Given the description of an element on the screen output the (x, y) to click on. 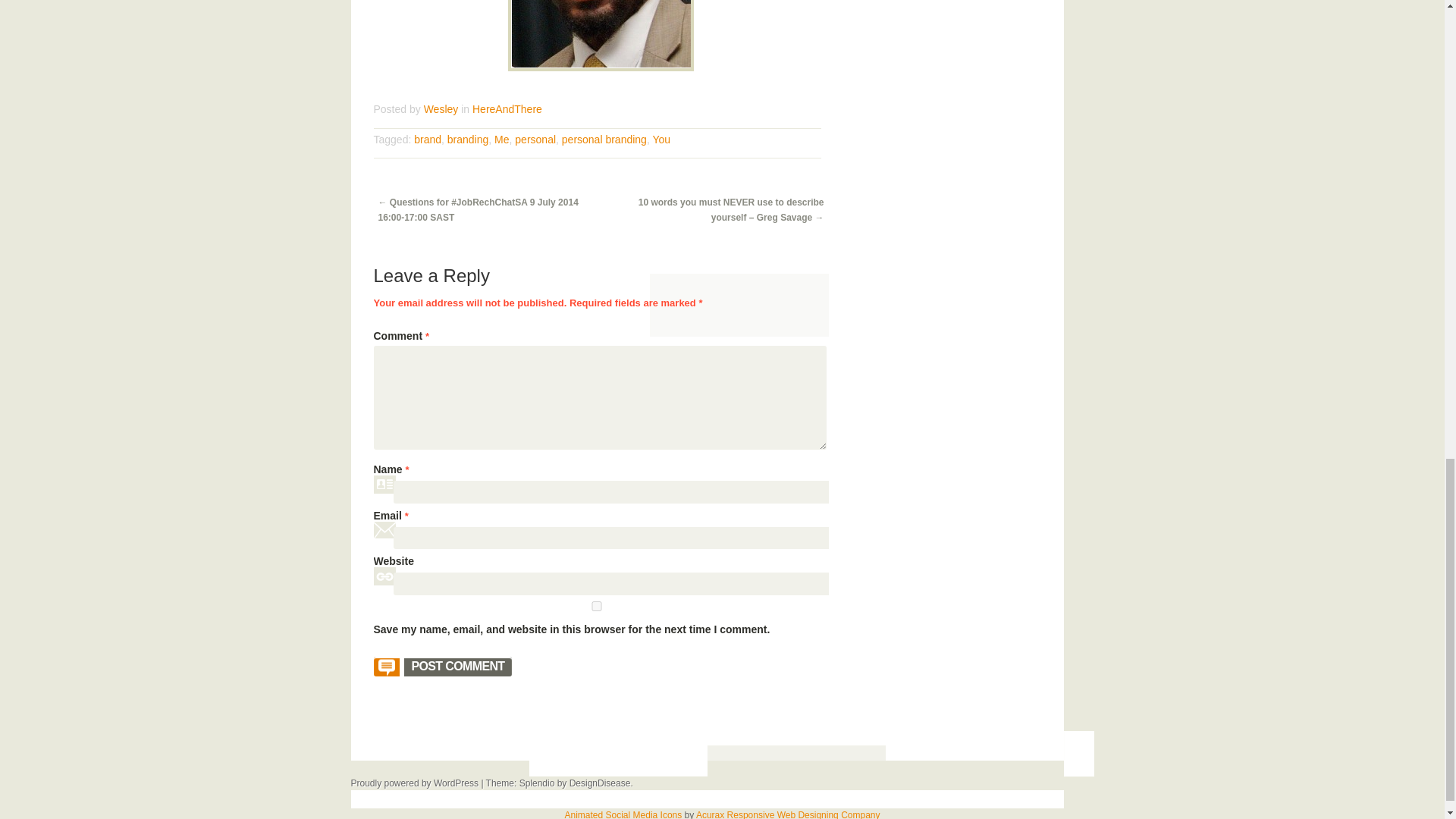
Post Comment (442, 666)
brand (427, 139)
yes (595, 605)
Wesley (440, 109)
personal (535, 139)
A Semantic Personal Publishing Platform (414, 783)
personal branding (604, 139)
View all posts by Wesley (440, 109)
You (660, 139)
HereAndThere (506, 109)
Post Comment (442, 666)
Me (501, 139)
branding (467, 139)
